Given the description of an element on the screen output the (x, y) to click on. 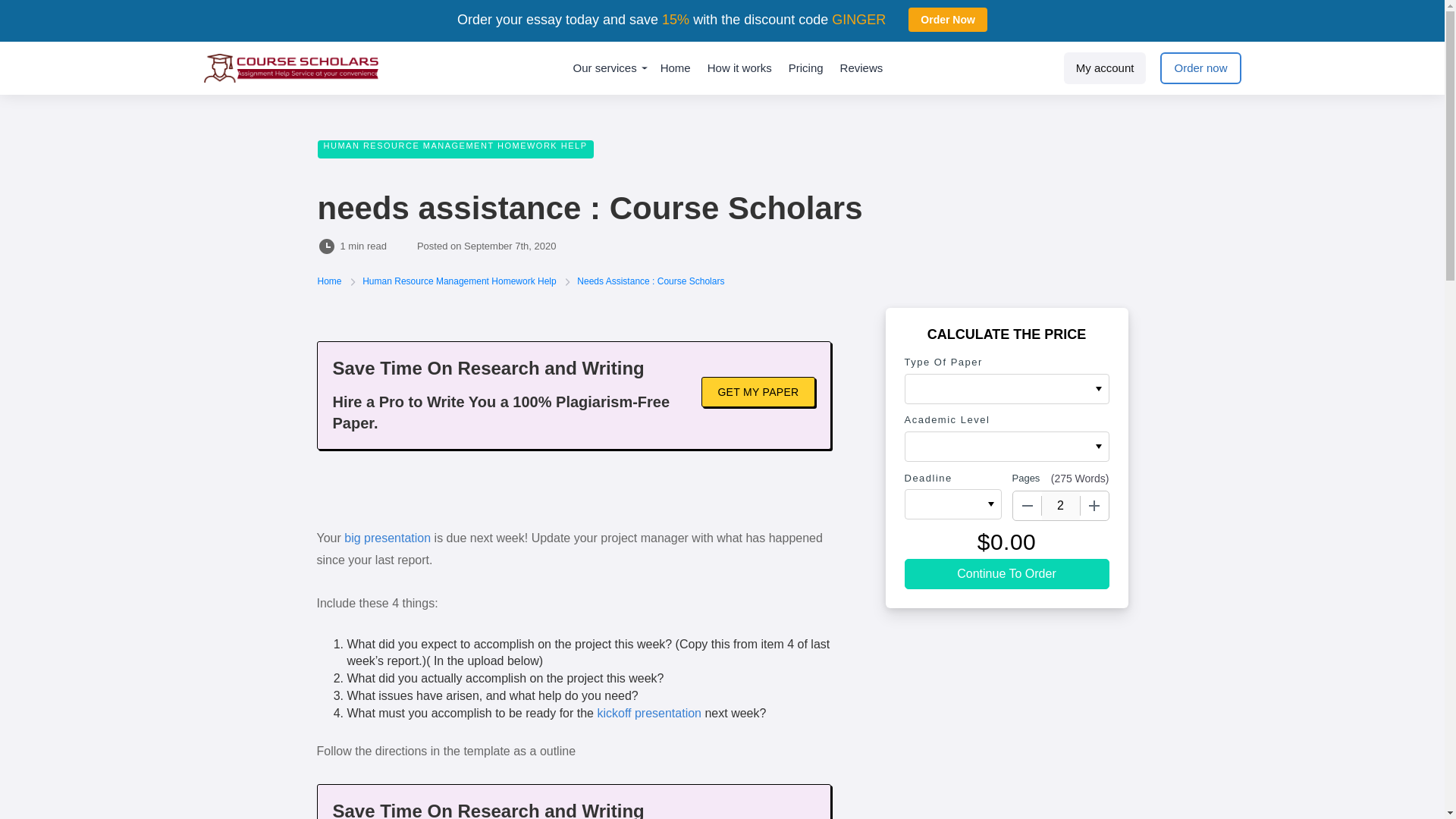
Decrease (1027, 505)
Continue to order (1006, 573)
Order Now (947, 19)
Increase (1094, 505)
2 (1061, 505)
